Given the description of an element on the screen output the (x, y) to click on. 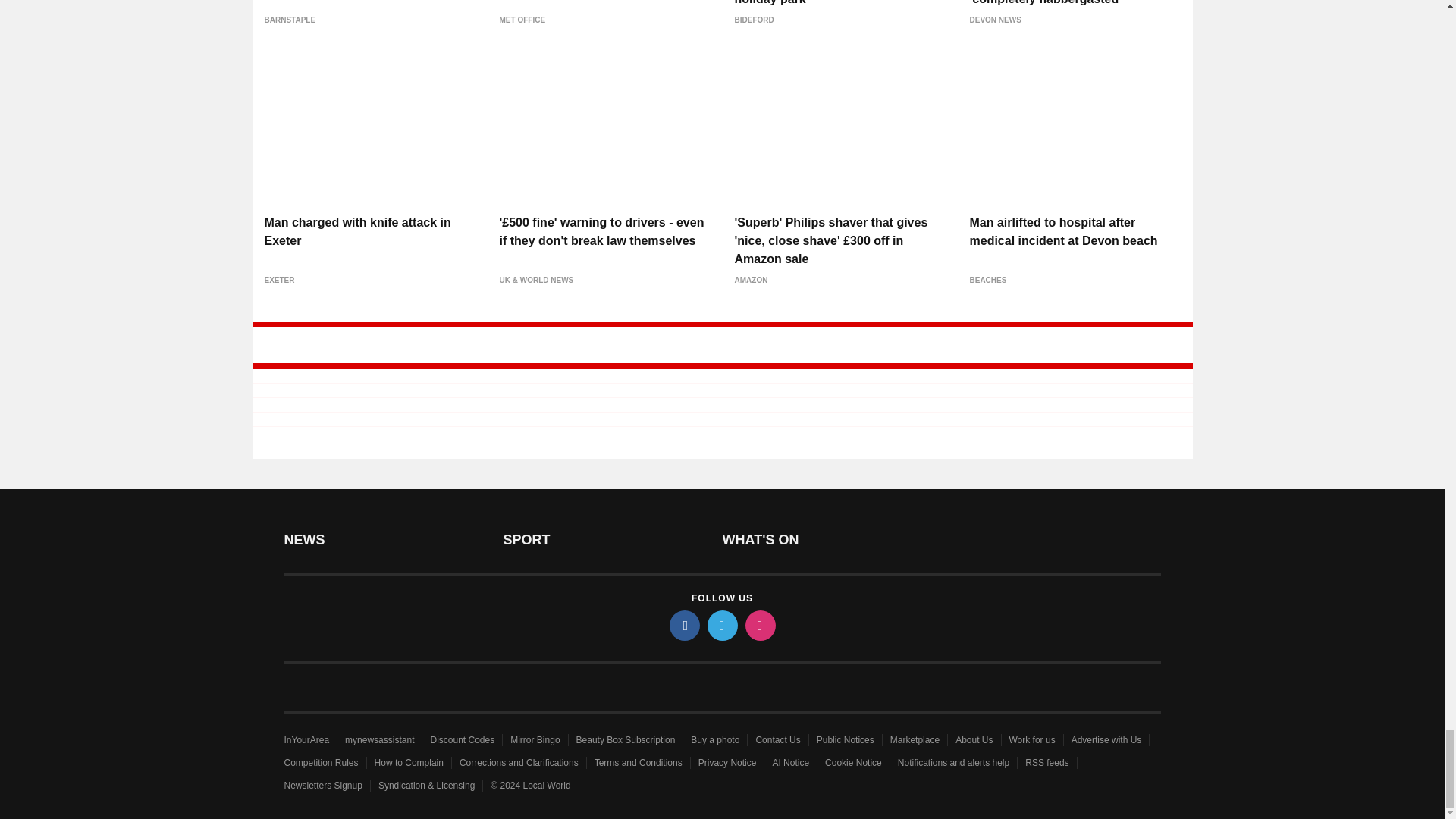
facebook (683, 625)
instagram (759, 625)
twitter (721, 625)
